Given the description of an element on the screen output the (x, y) to click on. 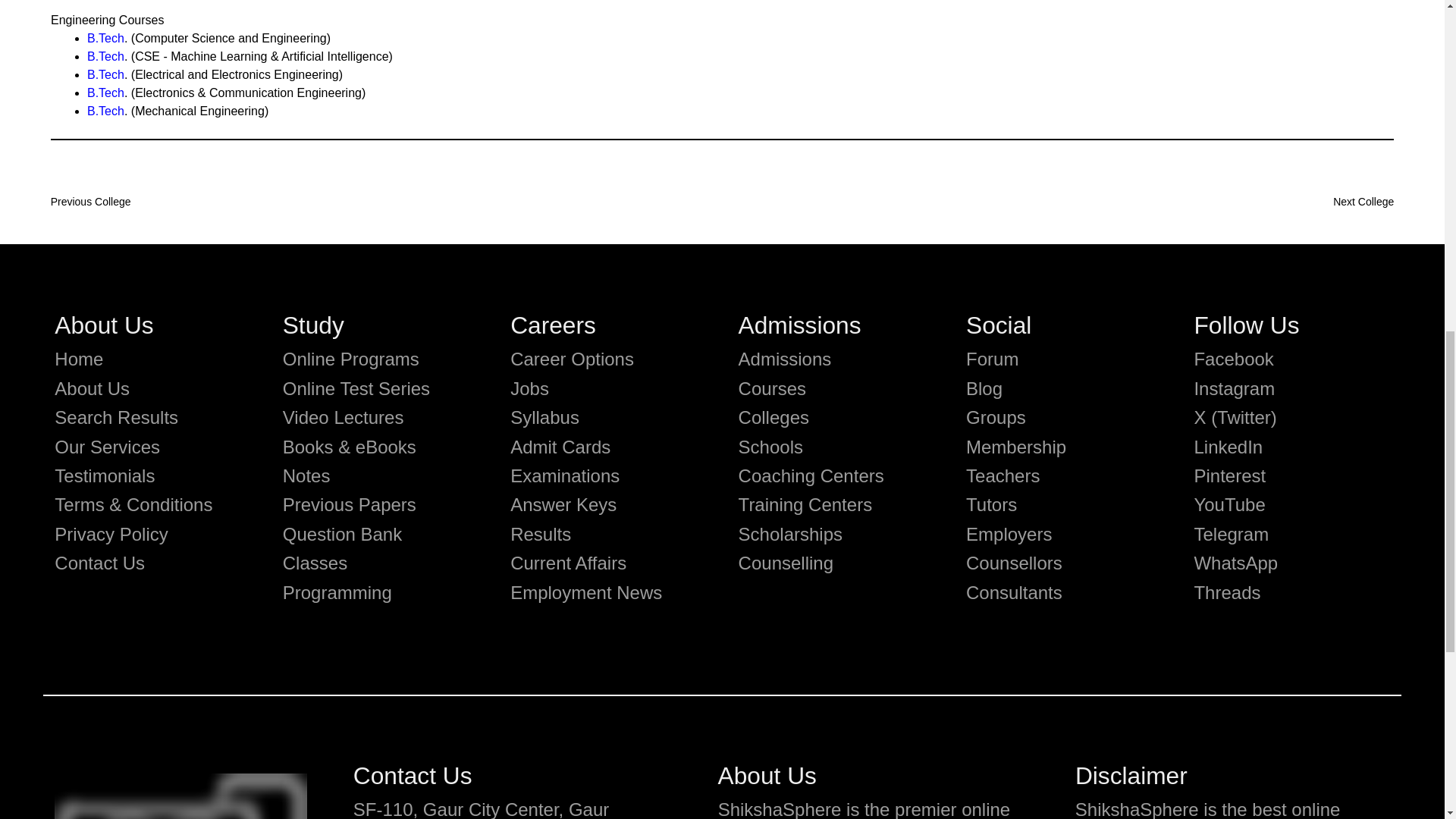
Home (79, 358)
Privacy Policy (111, 534)
Notes (306, 476)
Previous College (95, 202)
About Us (92, 388)
Online Test Series (355, 388)
Our Services (107, 446)
Online Programs (350, 358)
Video Lectures (343, 417)
Next College (1348, 202)
Search Results (116, 417)
Testimonials (104, 476)
Contact Us (99, 562)
